Given the description of an element on the screen output the (x, y) to click on. 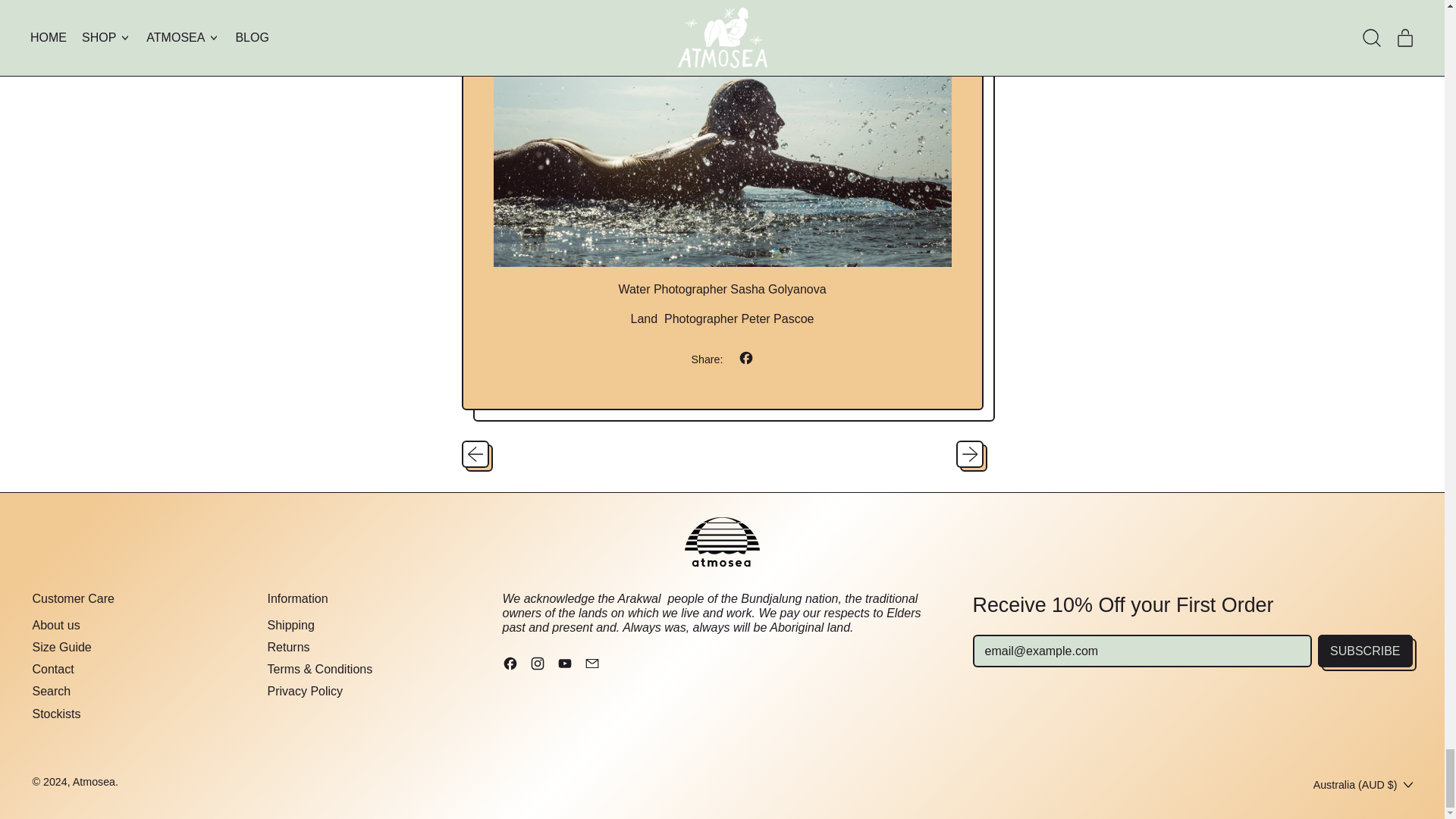
Size Guide (61, 646)
Search (50, 690)
About us (56, 625)
Privacy Policy (304, 690)
Stockists (56, 713)
Share on Facebook (746, 358)
Contact (53, 668)
Returns (287, 646)
Shipping (290, 625)
Facebook (509, 666)
